Given the description of an element on the screen output the (x, y) to click on. 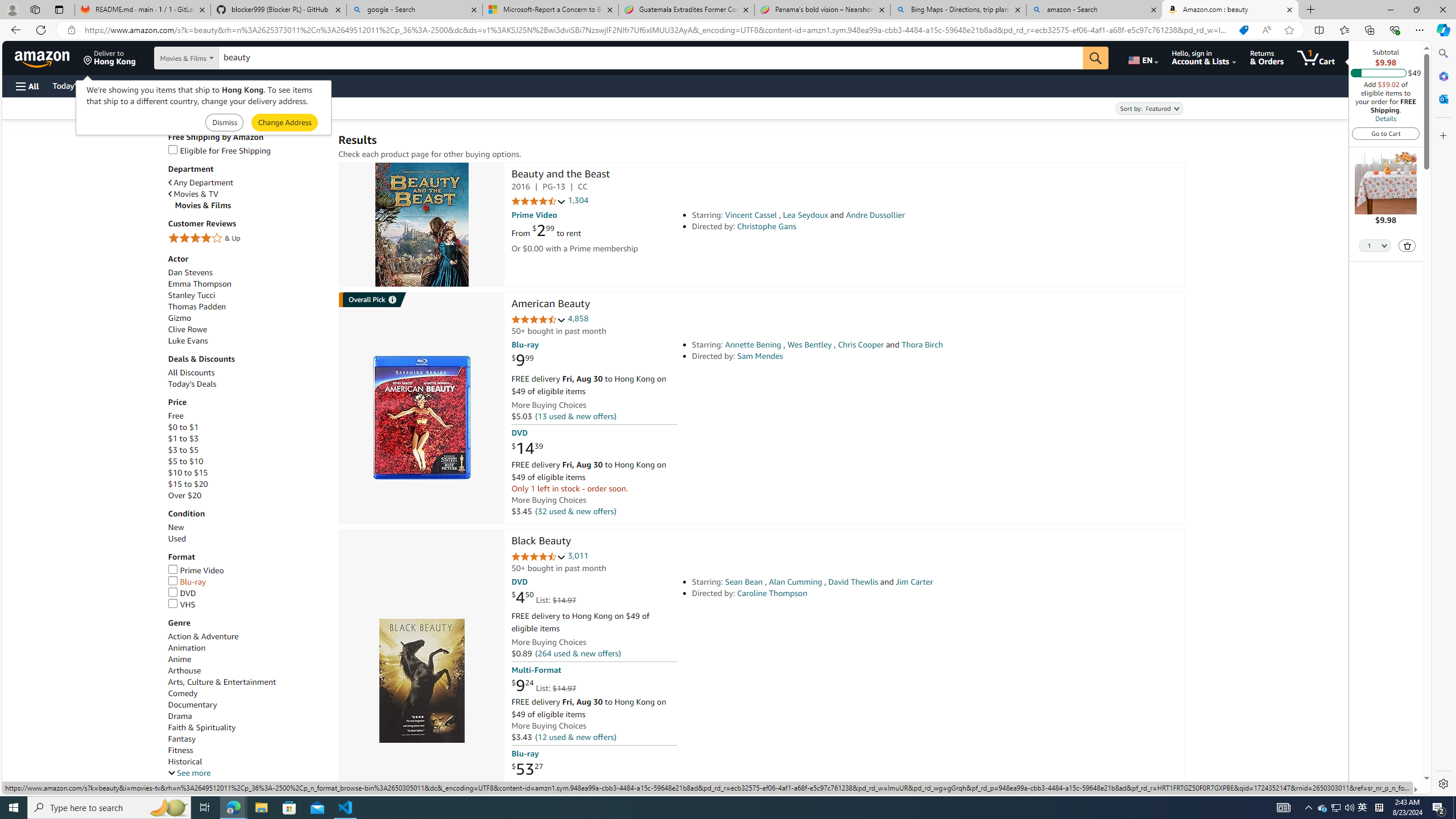
Documentary (247, 705)
Dan Stevens (247, 272)
Clive Rowe (187, 329)
See more, Genre (189, 773)
Sam Mendes (759, 355)
Faith & Spirituality (247, 727)
Deliver to Hong Kong (109, 57)
Thomas Padden (247, 307)
Gizmo (179, 317)
Go to Cart (1385, 133)
$1 to $3 (183, 438)
